Given the description of an element on the screen output the (x, y) to click on. 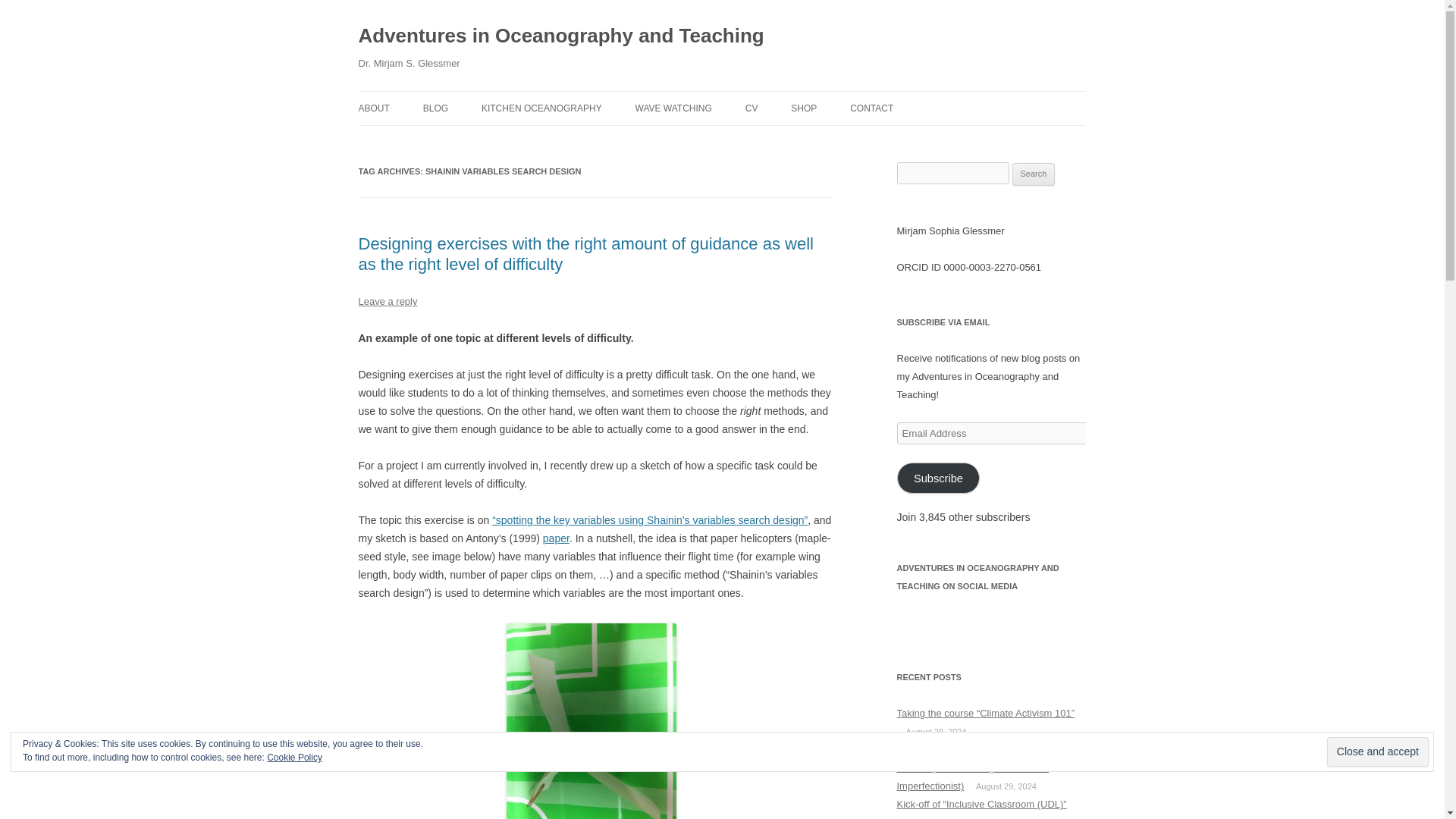
KITCHEN OCEANOGRAPHY (541, 108)
Leave a reply (387, 301)
paper (556, 538)
CONTACT (871, 108)
Close and accept (1377, 751)
Adventures in Oceanography and Teaching (560, 36)
ABOUT (373, 108)
BLOG (499, 140)
